Given the description of an element on the screen output the (x, y) to click on. 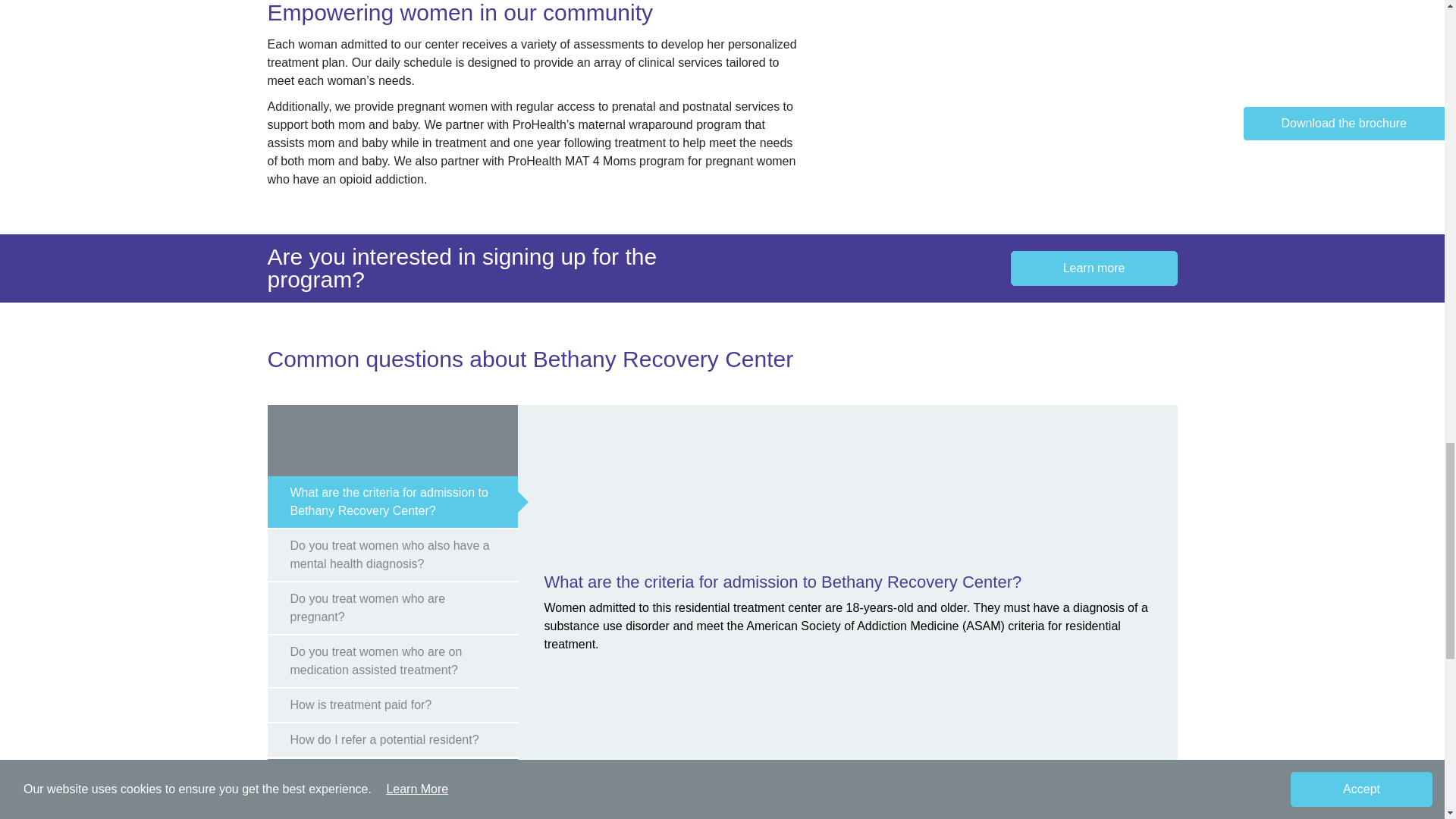
How do I refer a potential resident? (391, 741)
Do you treat women who also have a mental health diagnosis? (391, 556)
Do you treat women who are on medication assisted treatment? (391, 662)
How is treatment paid for? (391, 705)
Do you treat women who are pregnant? (391, 609)
Learn more (1093, 267)
